Given the description of an element on the screen output the (x, y) to click on. 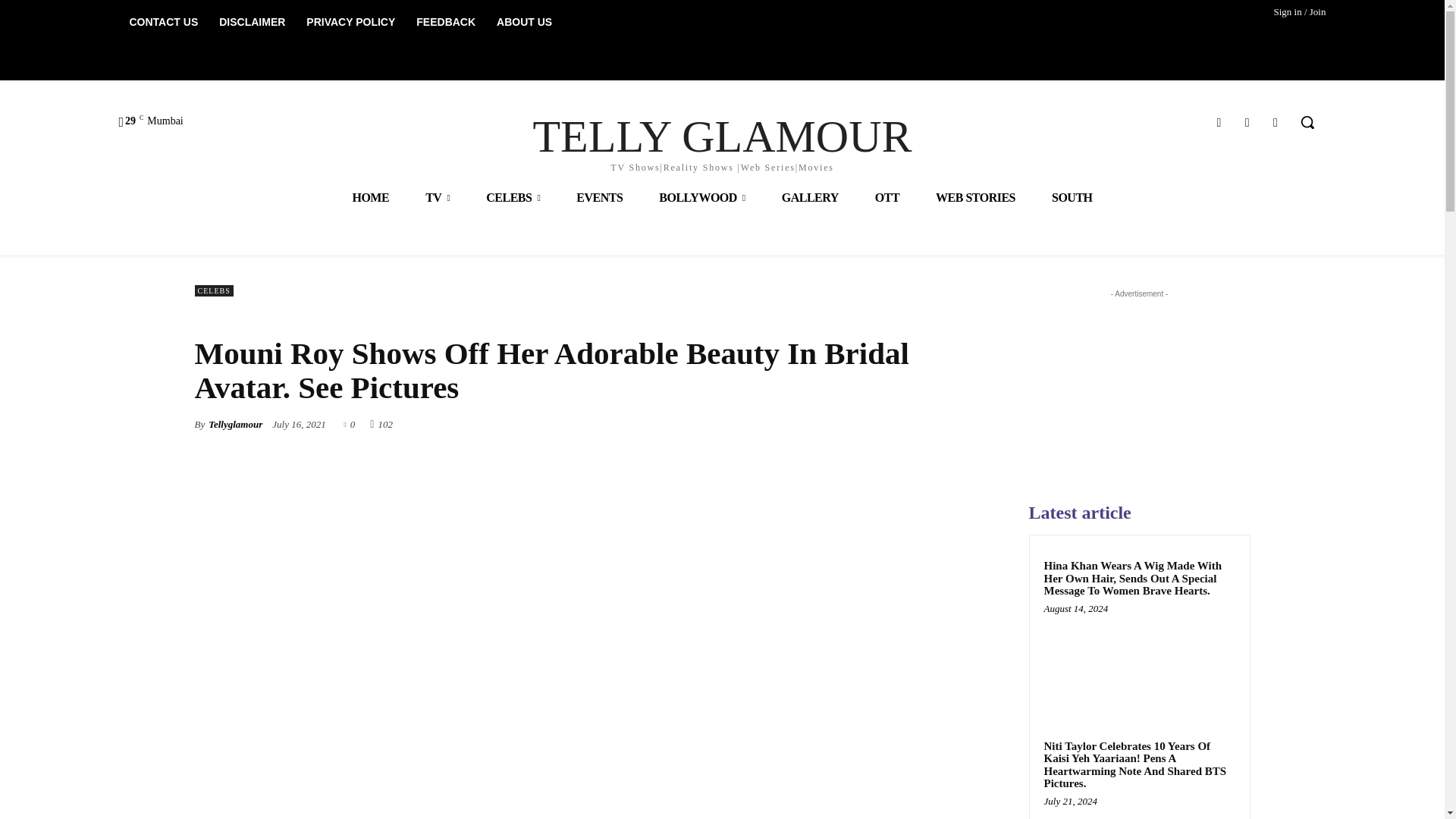
TV (437, 197)
Youtube (1275, 122)
Twitter (1246, 122)
CONTACT US (162, 22)
PRIVACY POLICY (350, 22)
FEEDBACK (446, 22)
Facebook (1218, 122)
DISCLAIMER (251, 22)
ABOUT US (524, 22)
HOME (370, 197)
